Given the description of an element on the screen output the (x, y) to click on. 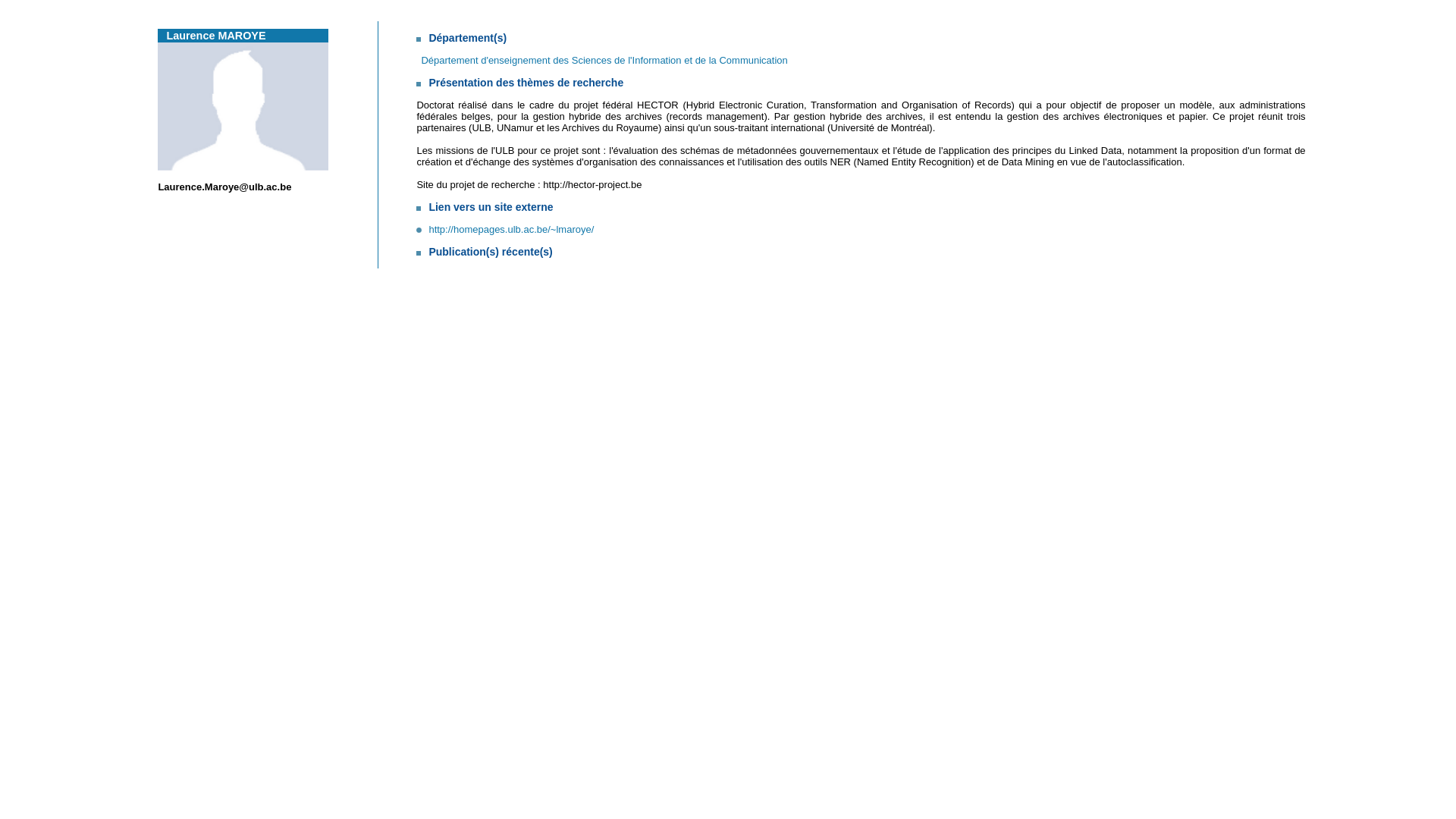
http://homepages.ulb.ac.be/~lmaroye/ Element type: text (504, 229)
